Given the description of an element on the screen output the (x, y) to click on. 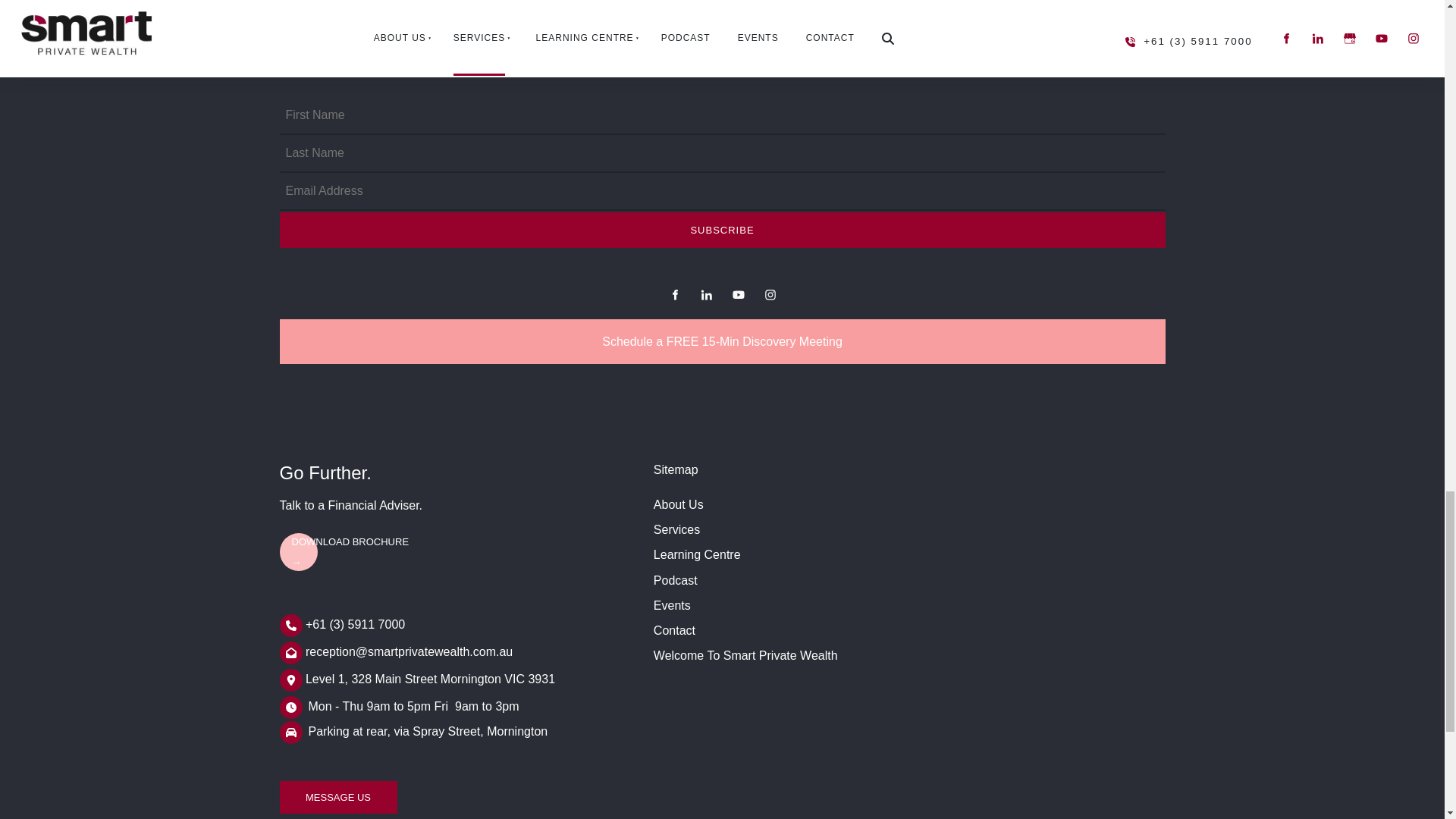
Instagram (770, 294)
Youtube (738, 294)
LinkedIn (706, 294)
Facebook (674, 294)
